Given the description of an element on the screen output the (x, y) to click on. 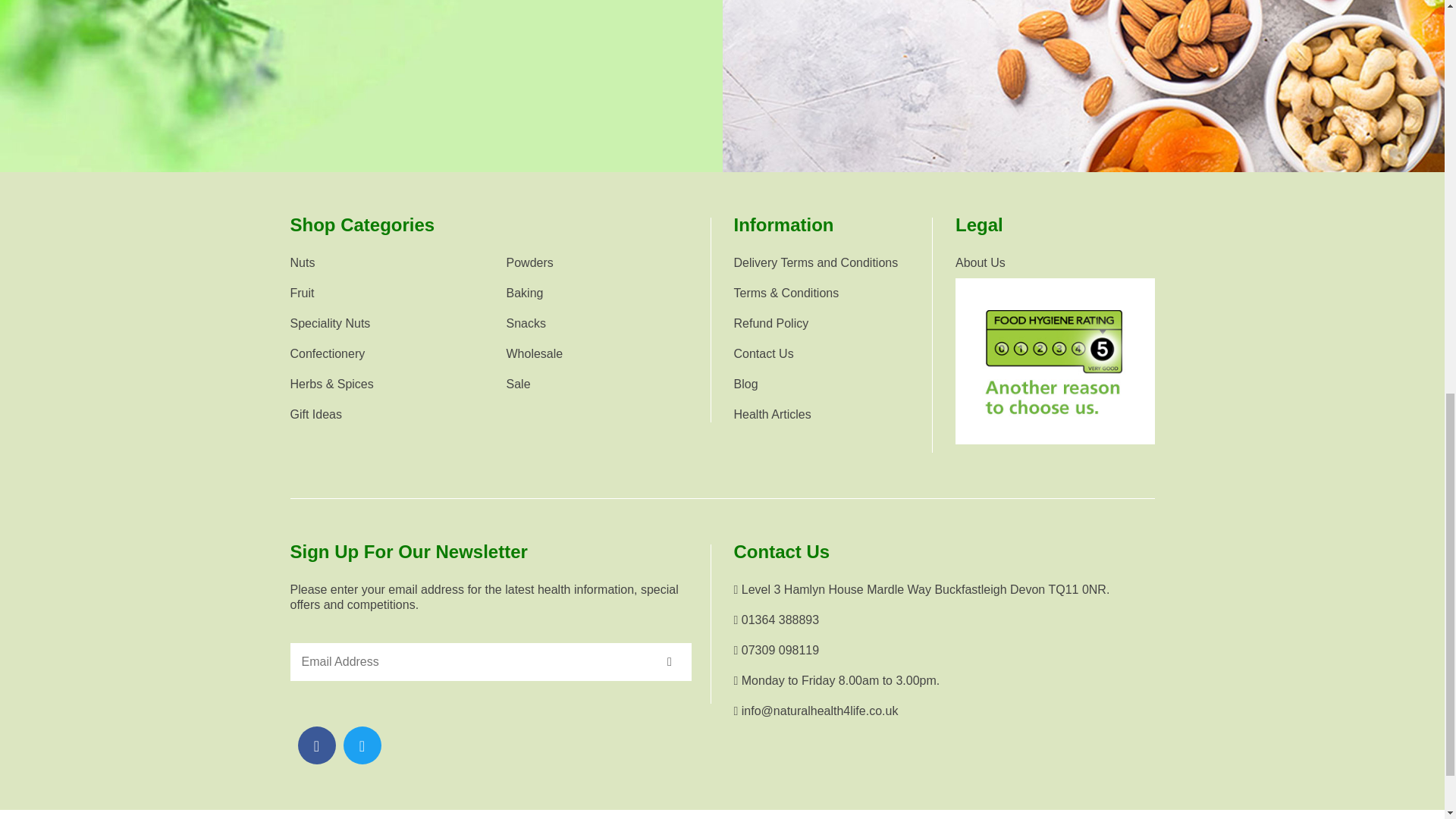
Visit our Facebook Page! (316, 745)
Subscribe to our Newsletter (669, 661)
Visit our Twitter Page! (362, 745)
